Given the description of an element on the screen output the (x, y) to click on. 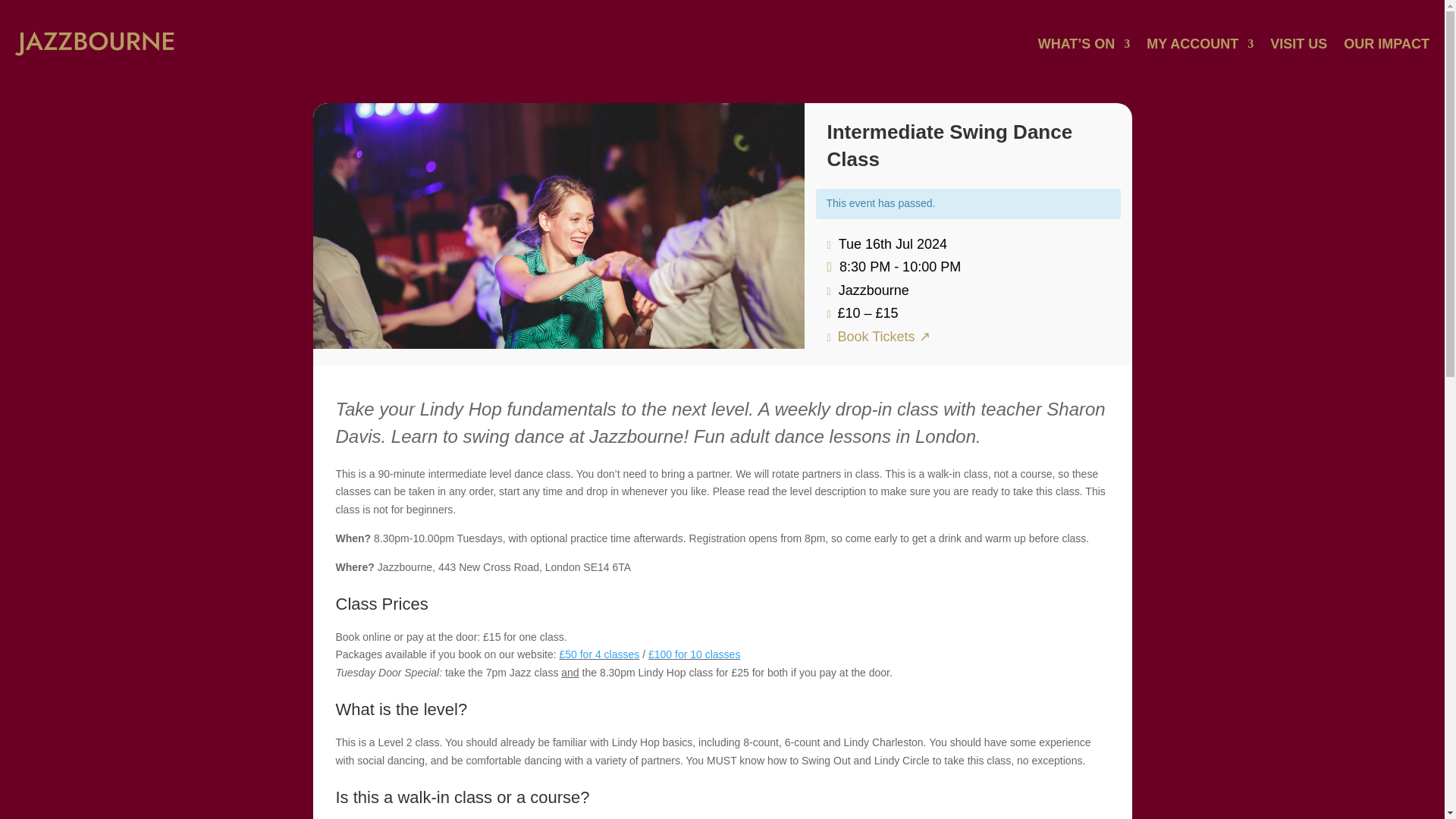
OUR IMPACT (1386, 43)
MY ACCOUNT (1200, 43)
Swing Dance class (558, 225)
VISIT US (1297, 43)
